Given the description of an element on the screen output the (x, y) to click on. 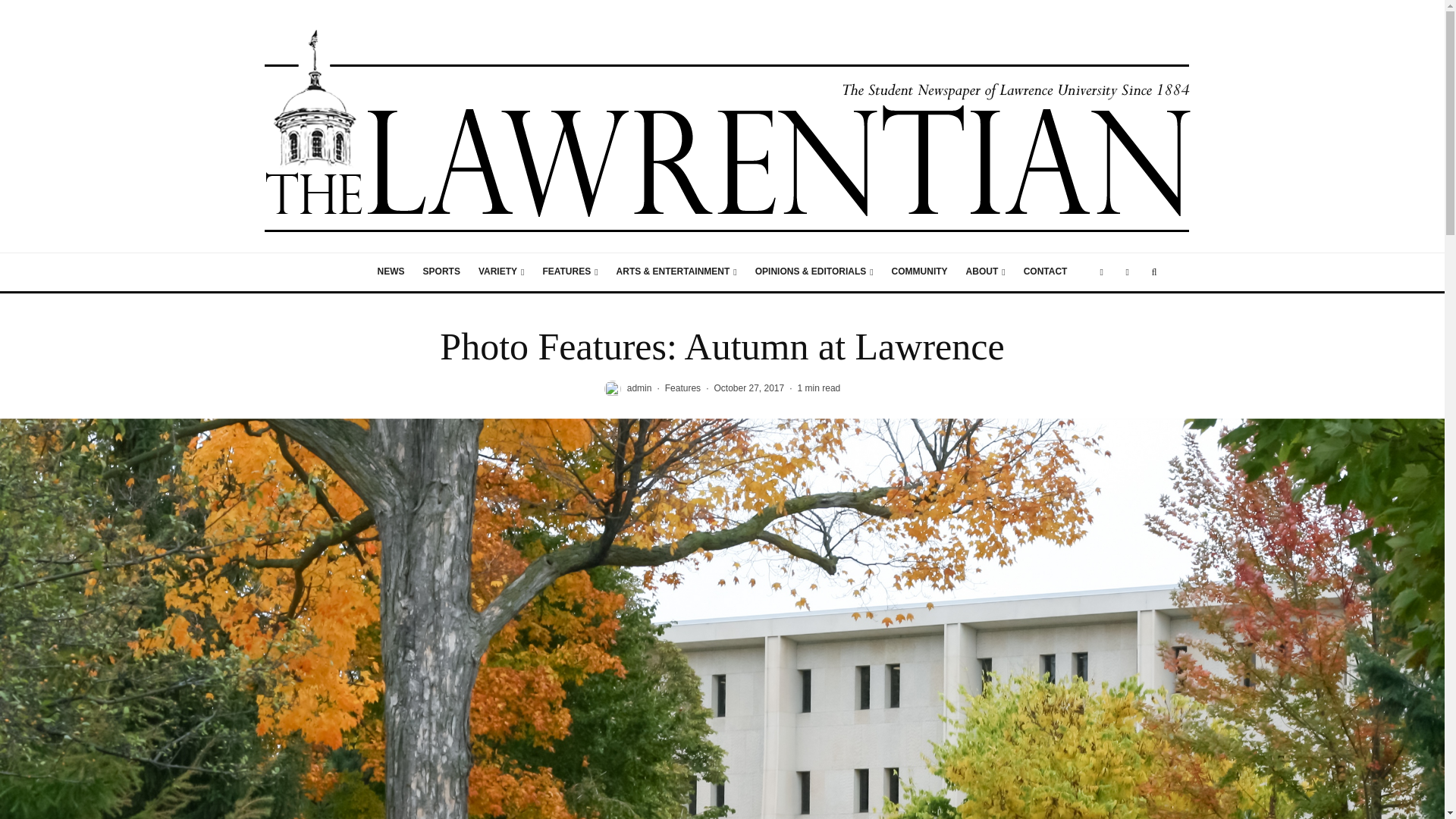
NEWS (390, 272)
VARIETY (501, 272)
FEATURES (569, 272)
Posts by admin (639, 388)
SPORTS (440, 272)
